Given the description of an element on the screen output the (x, y) to click on. 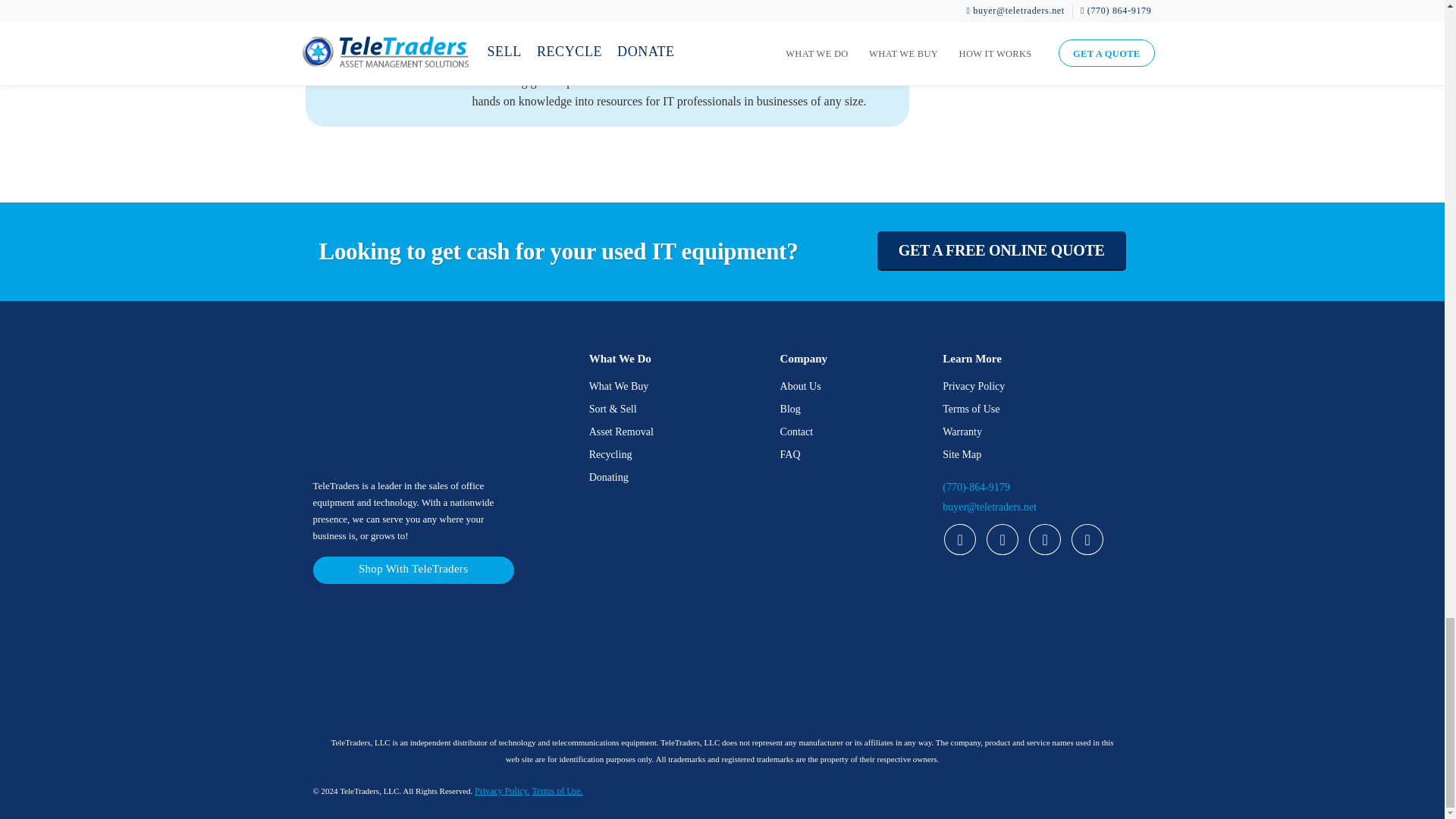
GET A FREE ONLINE QUOTE (1001, 249)
TeleTraders (1036, 655)
TeleTraders (826, 655)
TeleTraders (388, 407)
TeleTraders (616, 655)
TeleTraders (406, 655)
